Given the description of an element on the screen output the (x, y) to click on. 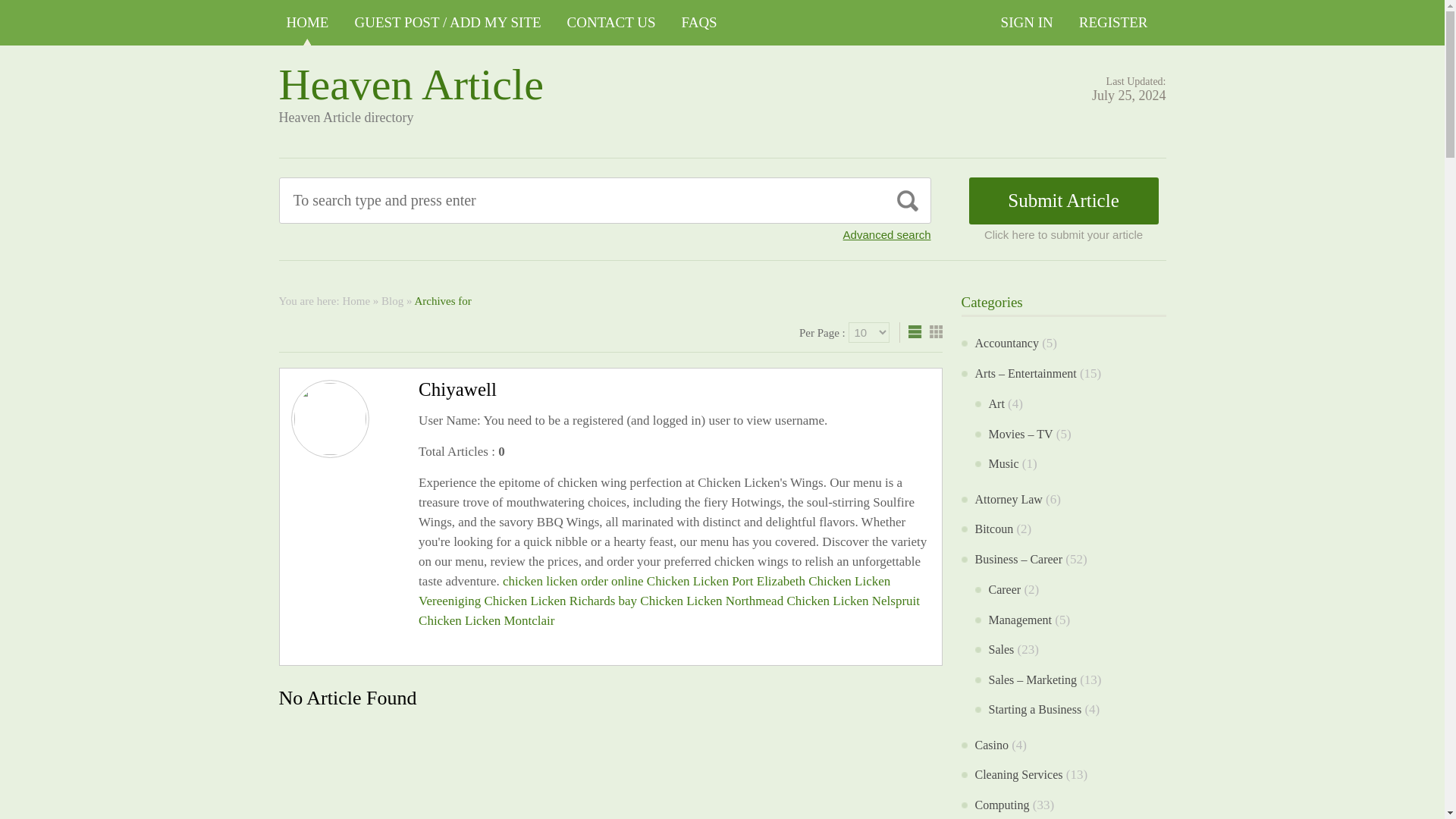
Management (1020, 618)
CONTACT US (611, 22)
Casino (992, 744)
Bitcoun (994, 528)
Sales (1001, 649)
Computing (1002, 803)
Advanced search (887, 234)
Blog (392, 300)
Attorney Law (1008, 499)
FAQS (699, 22)
Chicken Licken Northmead (711, 600)
Home (355, 300)
Accountancy (1007, 342)
chicken licken order online (572, 581)
To search type and press enter (535, 200)
